Given the description of an element on the screen output the (x, y) to click on. 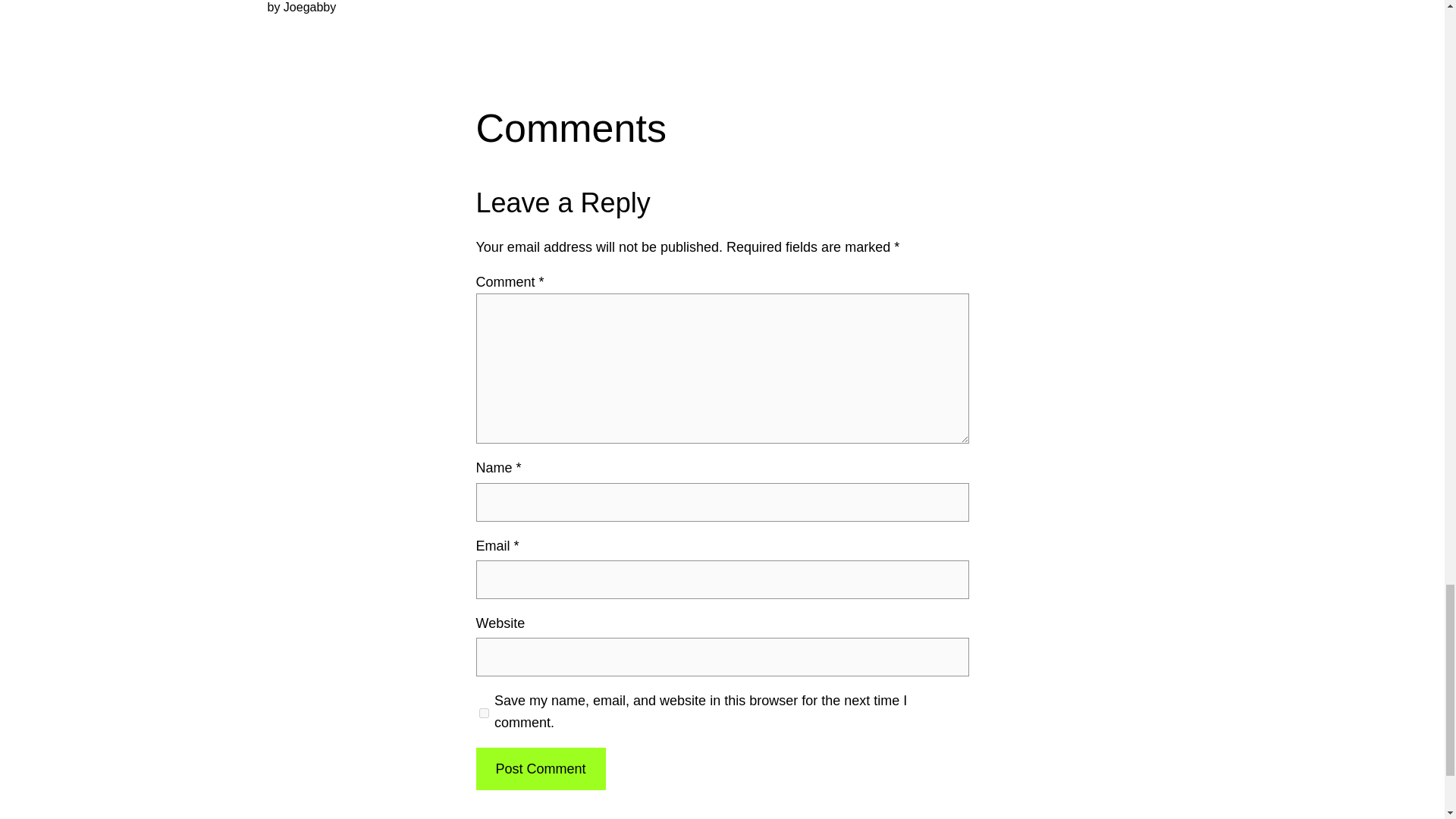
Post Comment (540, 769)
Post Comment (540, 769)
